Given the description of an element on the screen output the (x, y) to click on. 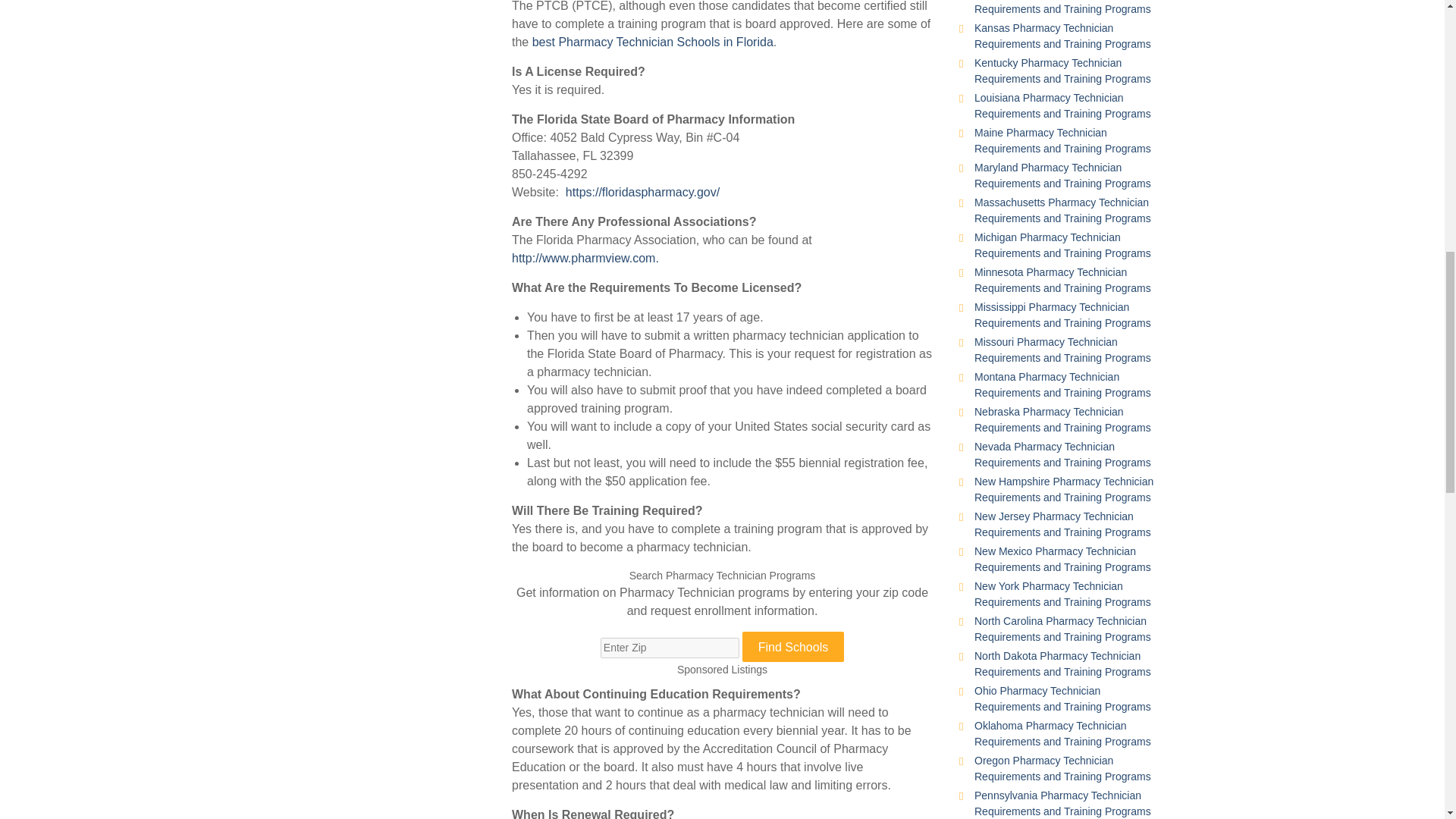
Find Schools (793, 646)
